Given the description of an element on the screen output the (x, y) to click on. 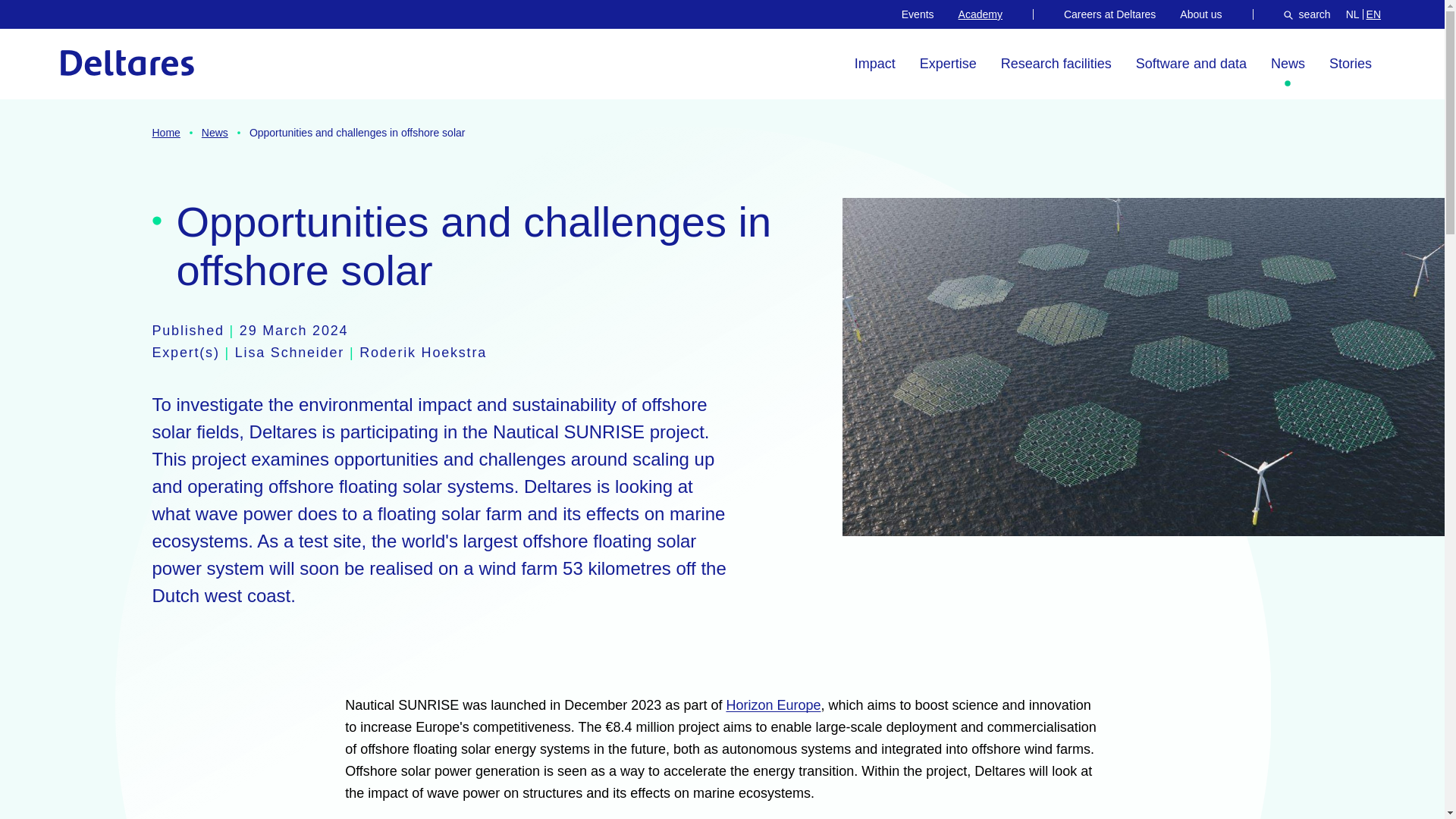
News (1287, 64)
Stories (1350, 64)
Careers at Deltares (1110, 14)
Naar hoofdcontent (84, 22)
Events (917, 14)
Naar hoofdcontent (84, 22)
search (1307, 14)
Software and data (1190, 64)
About us (1200, 14)
Impact (874, 64)
To the homepage (127, 62)
Expertise (1352, 14)
Research facilities (948, 64)
Academy (1056, 64)
